Given the description of an element on the screen output the (x, y) to click on. 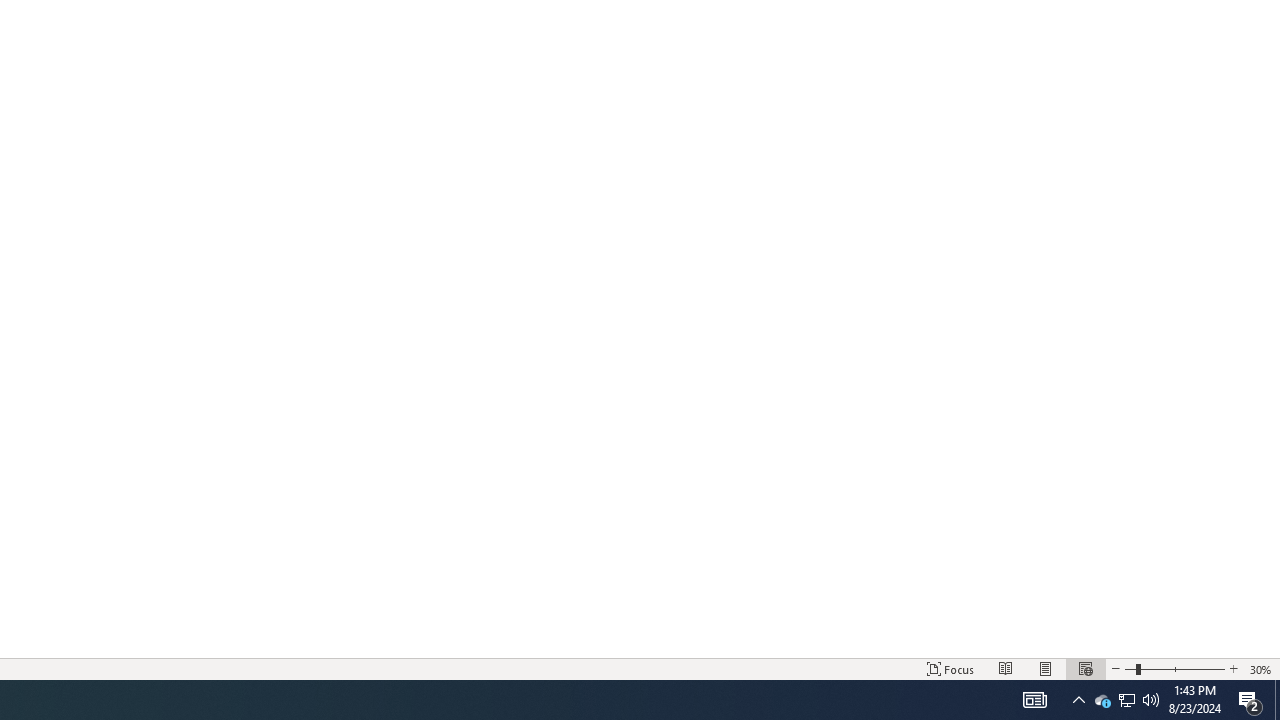
Zoom 30% (1261, 668)
